Given the description of an element on the screen output the (x, y) to click on. 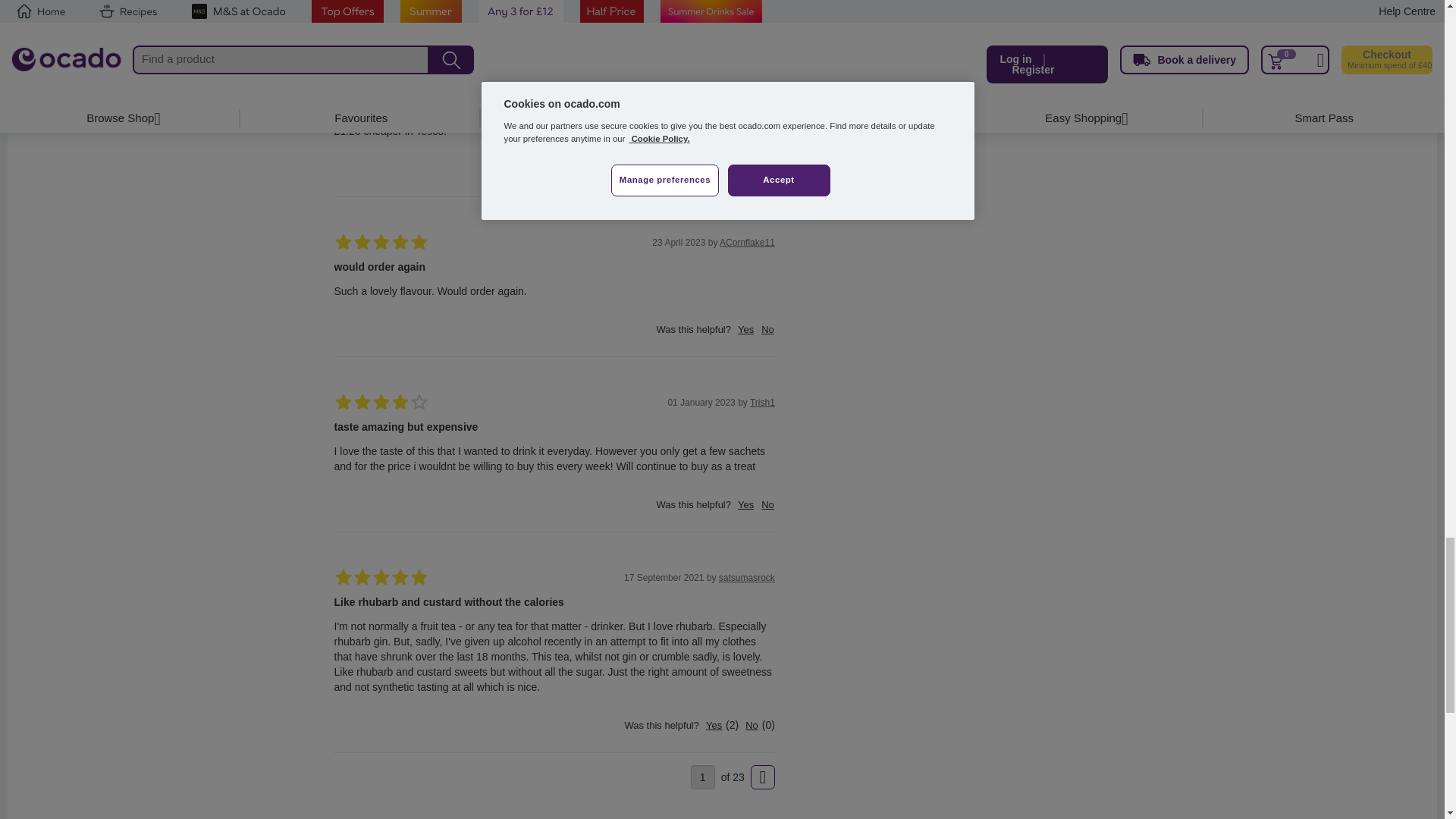
1 (702, 776)
